Given the description of an element on the screen output the (x, y) to click on. 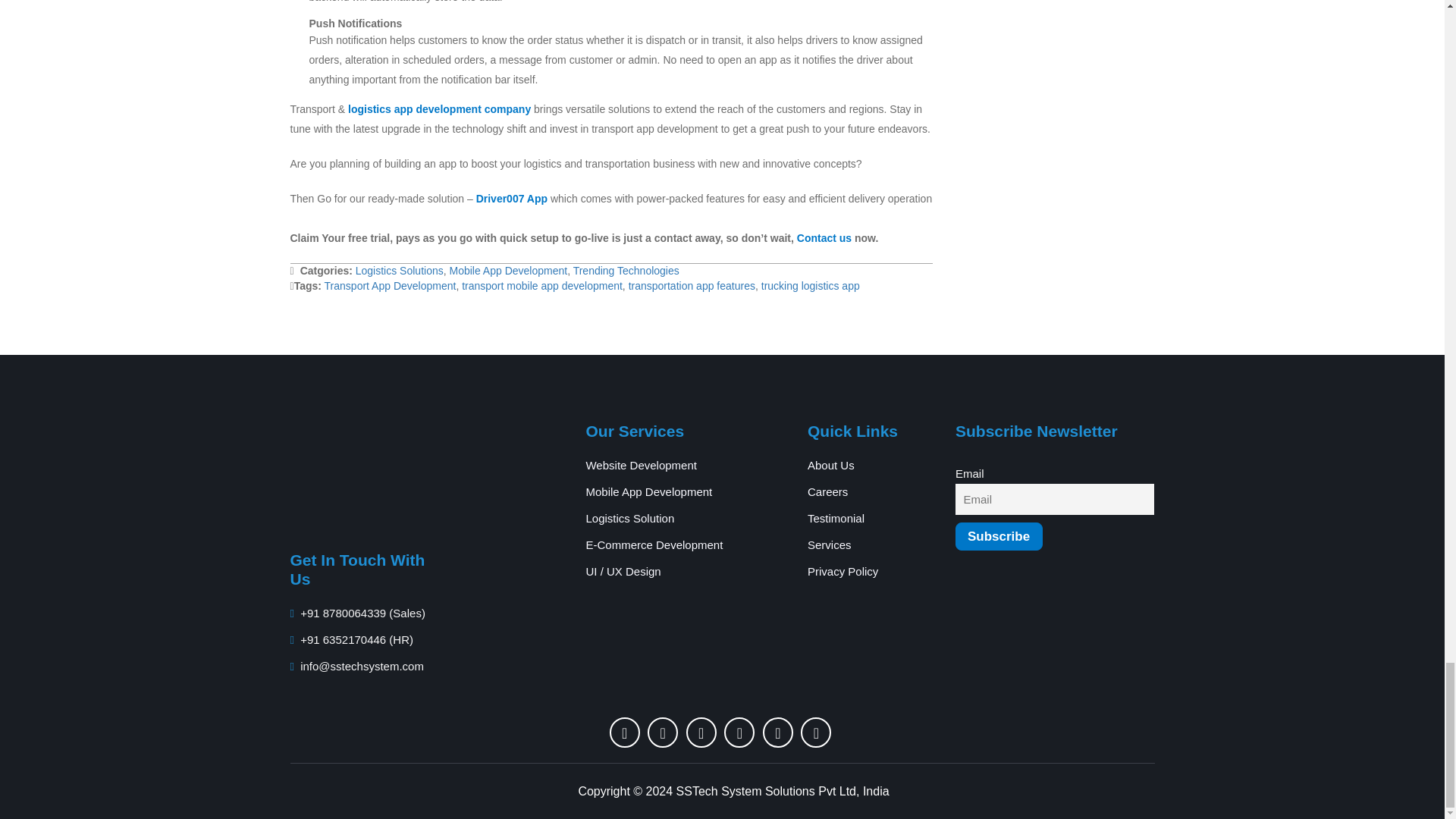
Subscribe (998, 536)
